Given the description of an element on the screen output the (x, y) to click on. 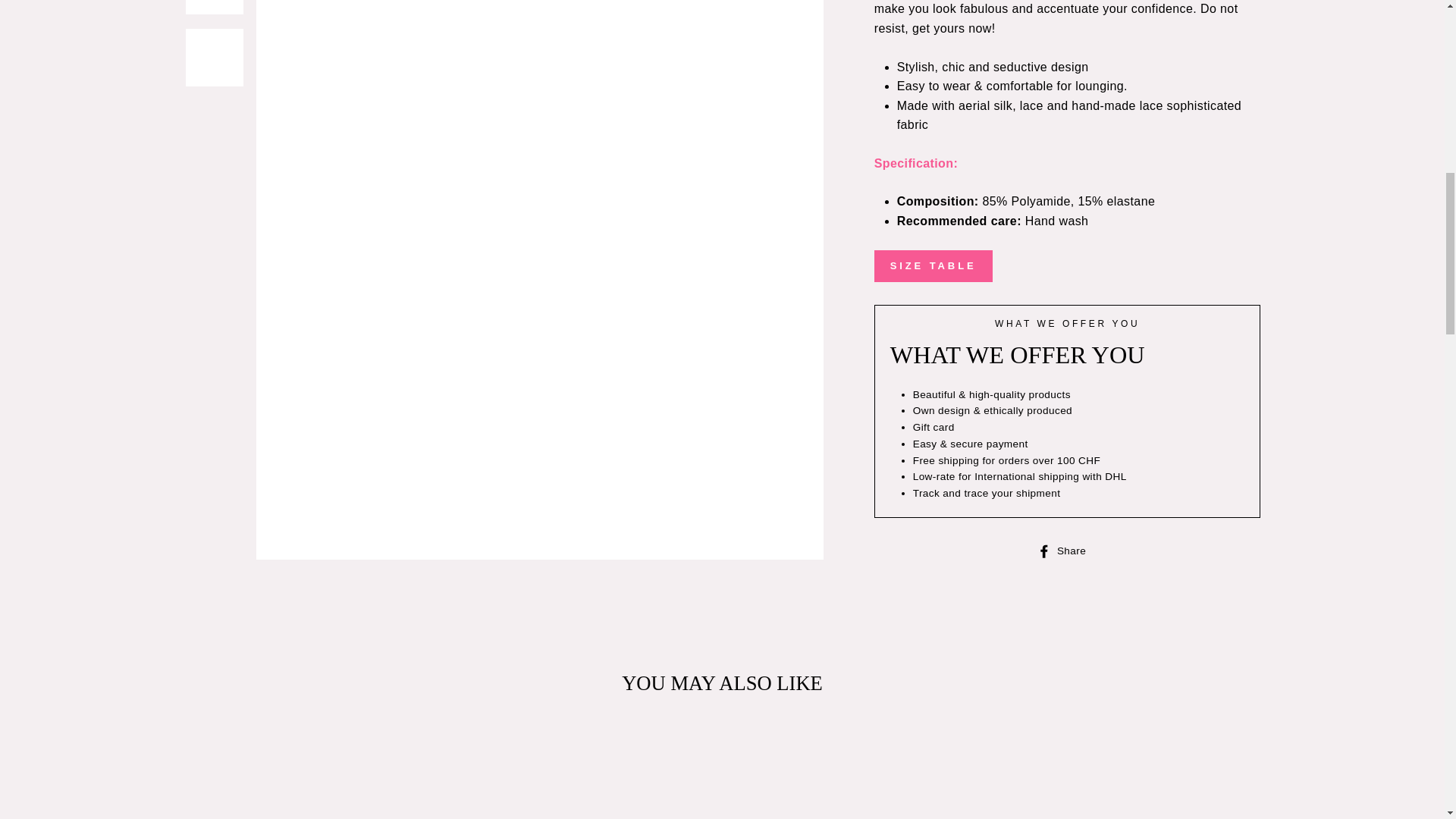
Share on Facebook (1066, 550)
